Given the description of an element on the screen output the (x, y) to click on. 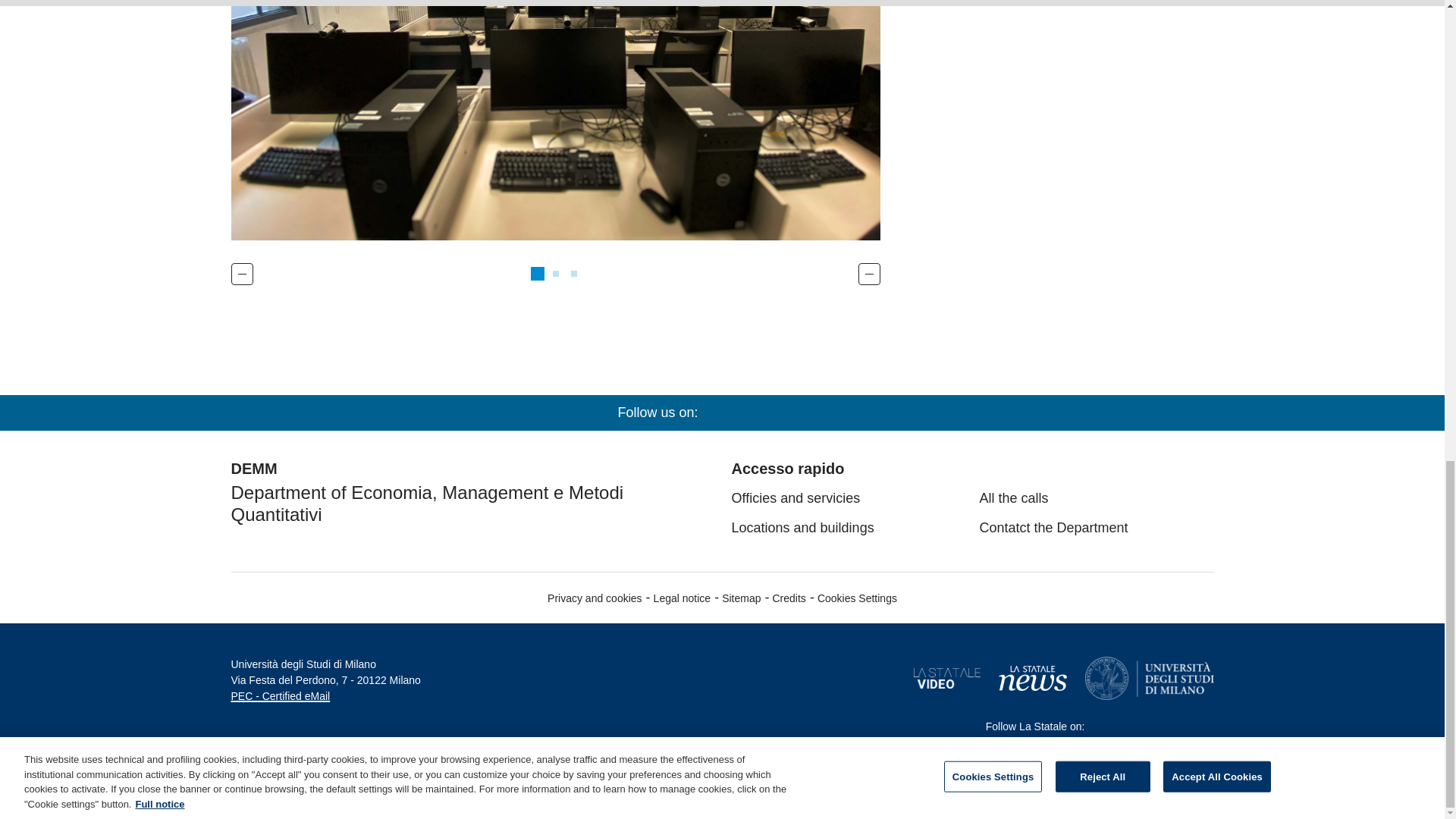
Follow us on LinkedIn (1127, 726)
UniMi (1148, 678)
Follow us on Facebook (1204, 726)
Impostazioni cookie (856, 598)
Follow us on Twitter (1152, 726)
La Statale News (1031, 678)
La Statale Video (945, 678)
Follow us on Instagram (1179, 726)
Follow us on YouTube (1101, 726)
PEC (280, 695)
